Given the description of an element on the screen output the (x, y) to click on. 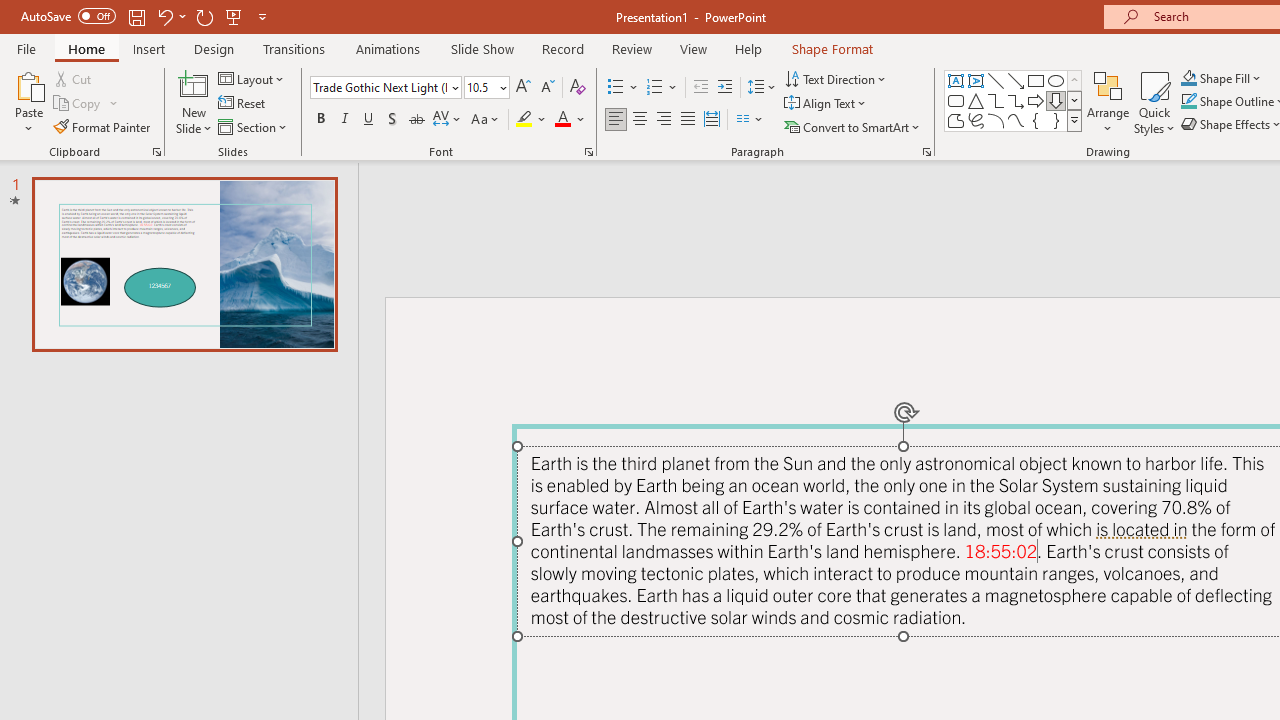
Shape Outline Teal, Accent 1 (1188, 101)
